Given the description of an element on the screen output the (x, y) to click on. 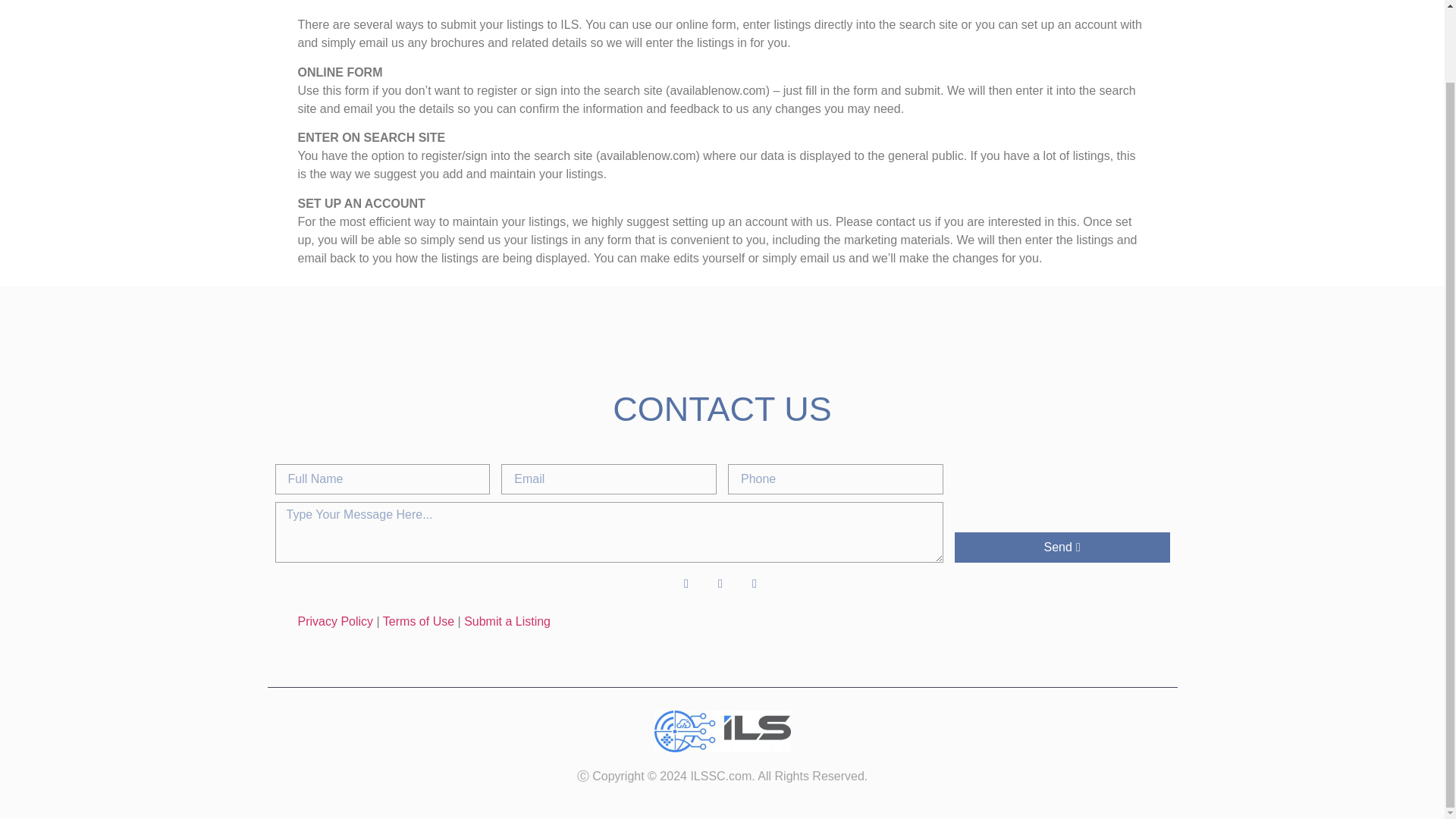
Terms of Use (418, 621)
Send (1062, 547)
Privacy Policy (334, 621)
Submit a Listing (507, 621)
